Given the description of an element on the screen output the (x, y) to click on. 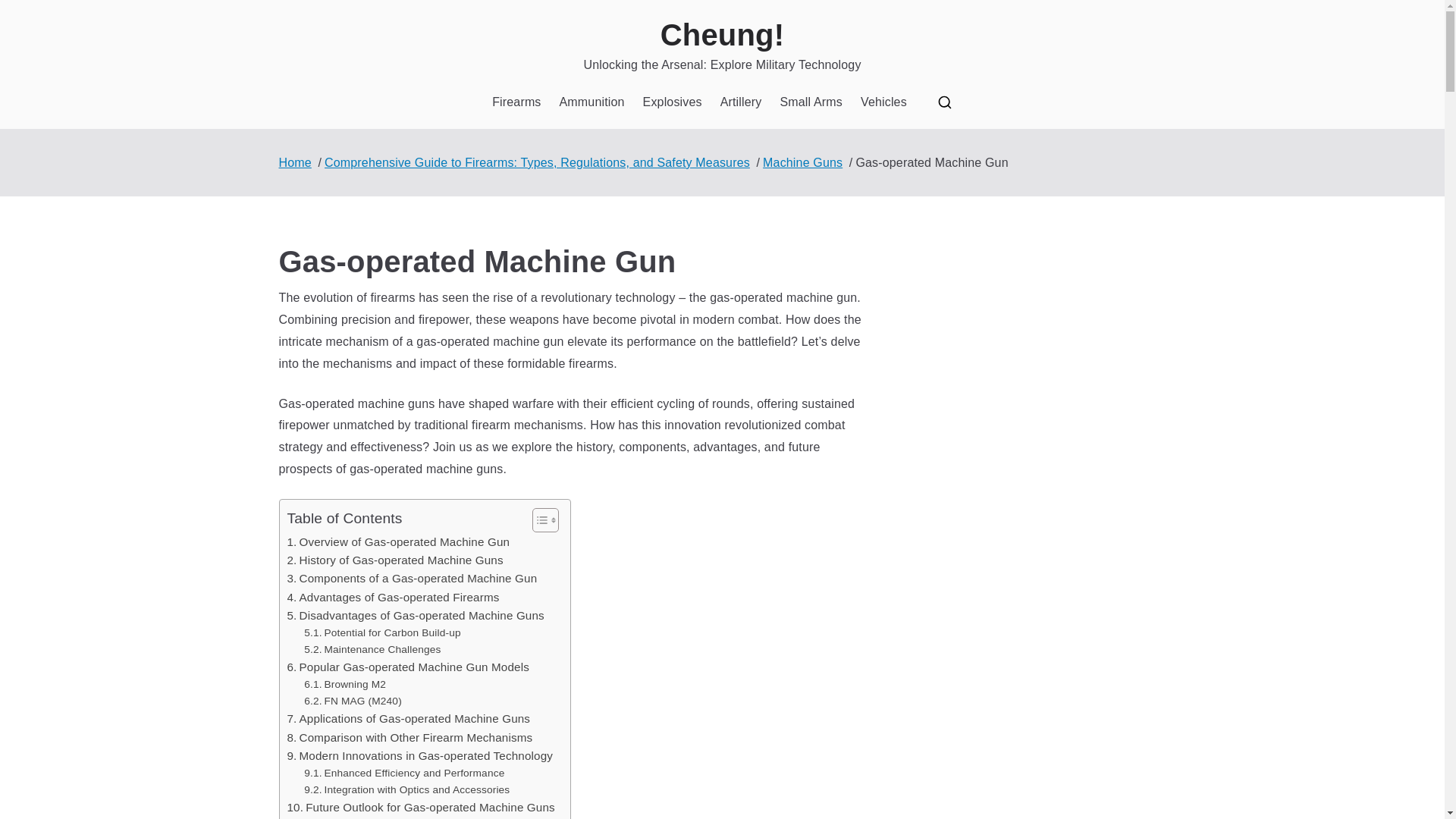
Disadvantages of Gas-operated Machine Guns (414, 615)
History of Gas-operated Machine Guns (394, 560)
Artillery (740, 102)
Modern Innovations in Gas-operated Technology (419, 755)
Small Arms (810, 102)
Applications of Gas-operated Machine Guns (407, 719)
Advantages of Gas-operated Firearms (392, 597)
History of Gas-operated Machine Guns (394, 560)
Popular Gas-operated Machine Gun Models (407, 667)
Potential for Carbon Build-up (382, 632)
Search (26, 12)
Comparison with Other Firearm Mechanisms (409, 737)
Cheung! (722, 34)
Applications of Gas-operated Machine Guns (407, 719)
